Given the description of an element on the screen output the (x, y) to click on. 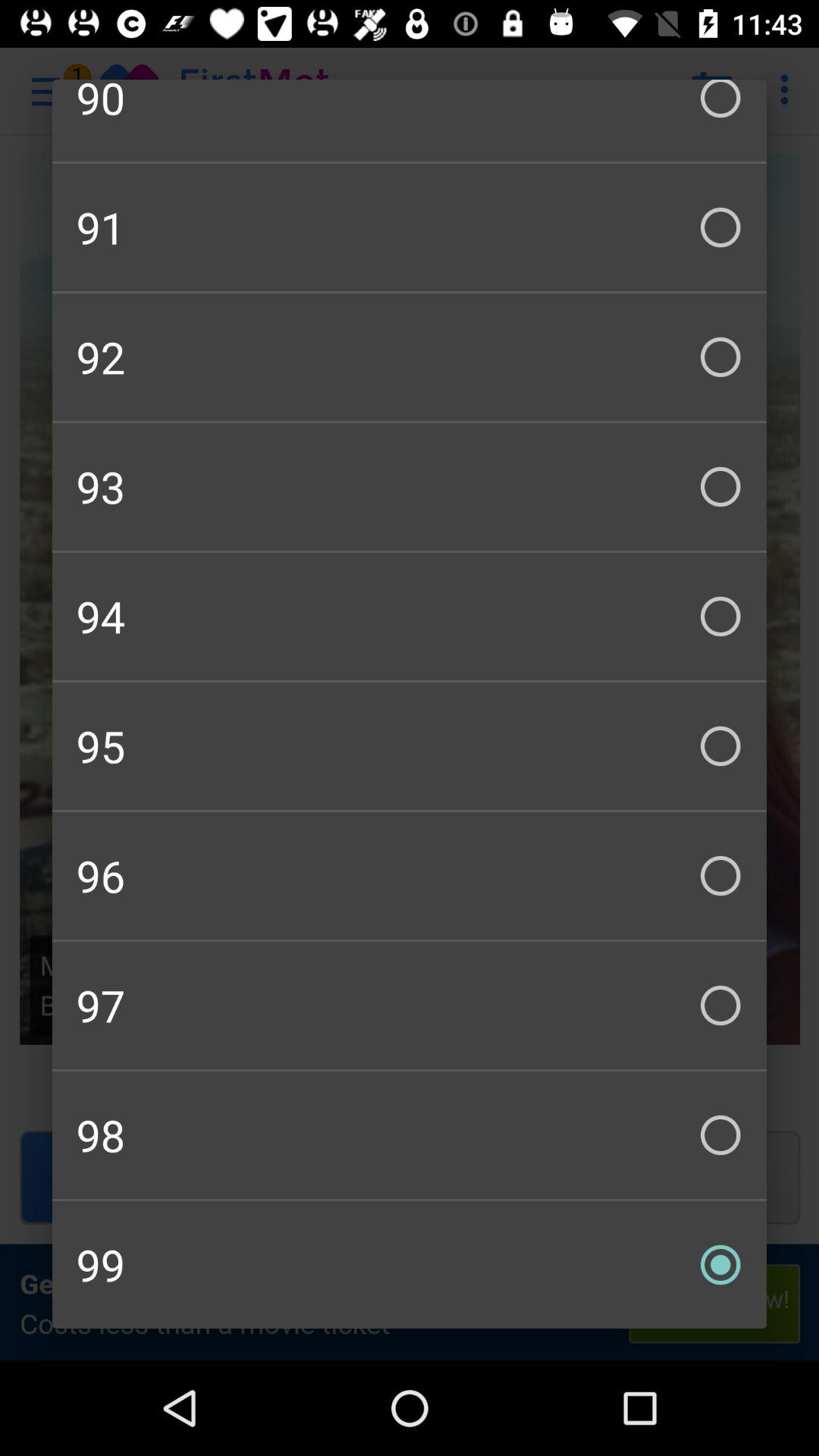
open checkbox below the 92 icon (409, 486)
